Given the description of an element on the screen output the (x, y) to click on. 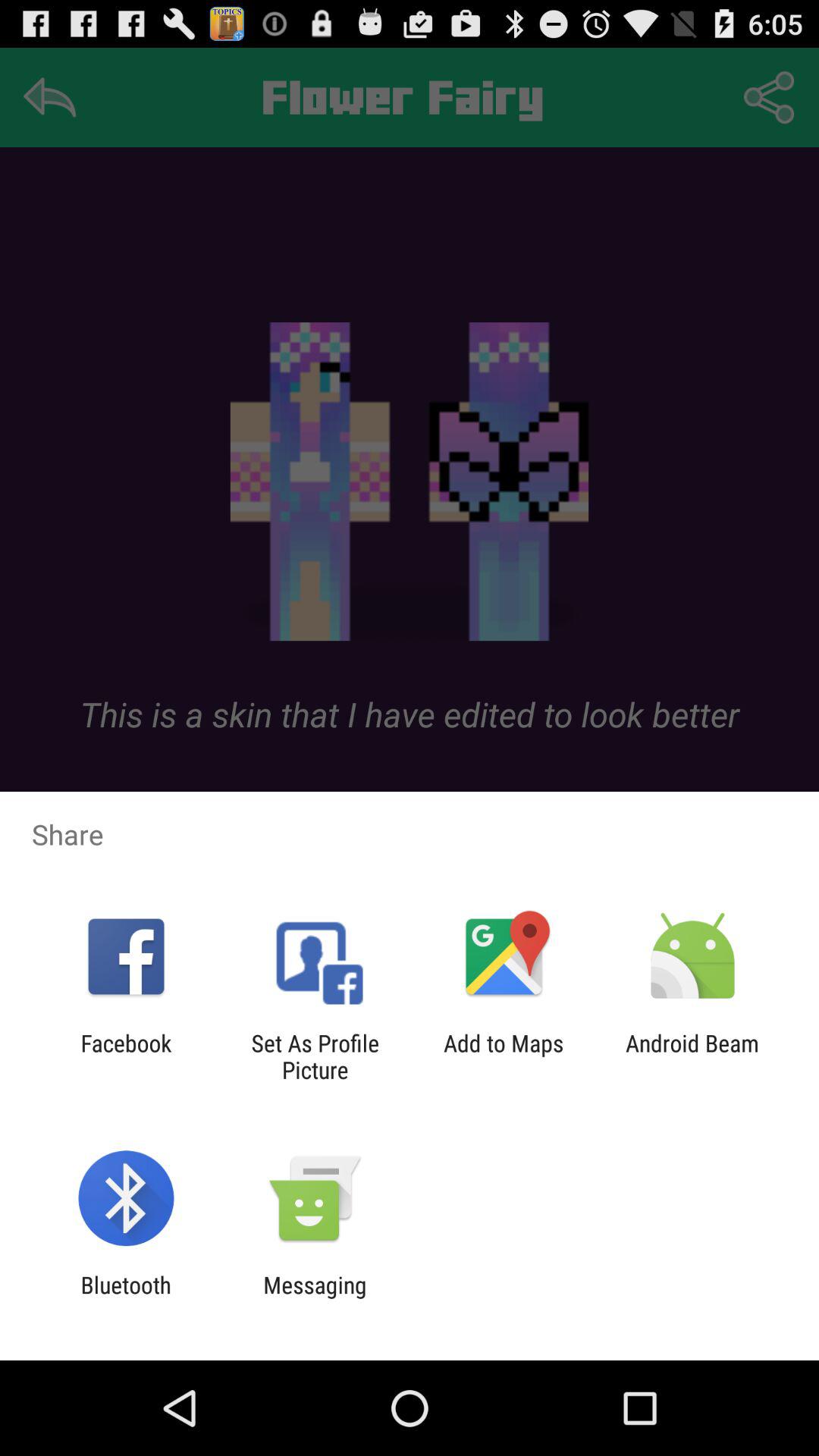
tap add to maps item (503, 1056)
